Given the description of an element on the screen output the (x, y) to click on. 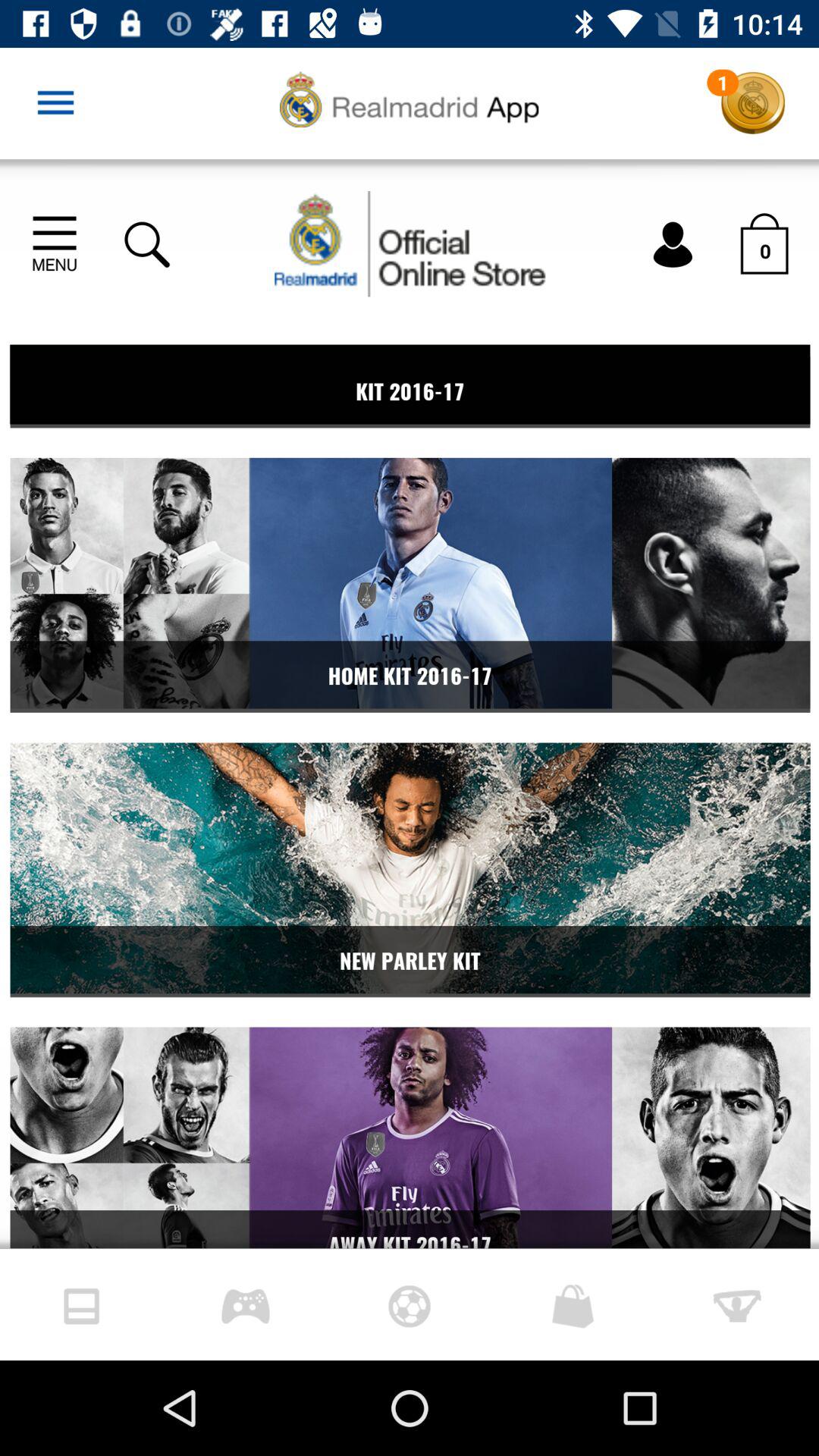
official real madrid app (409, 703)
